Given the description of an element on the screen output the (x, y) to click on. 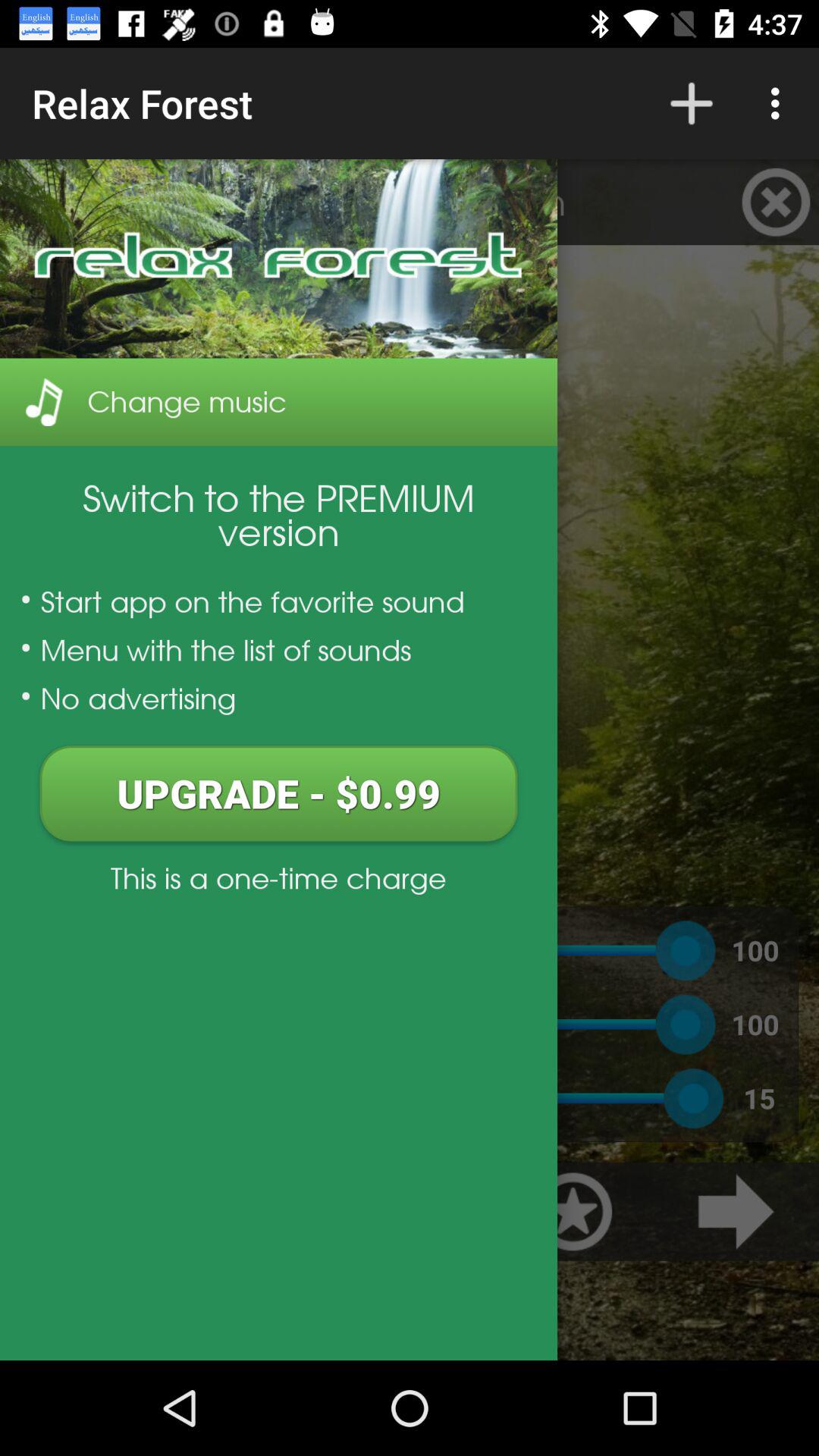
click on the close button (776, 201)
